Given the description of an element on the screen output the (x, y) to click on. 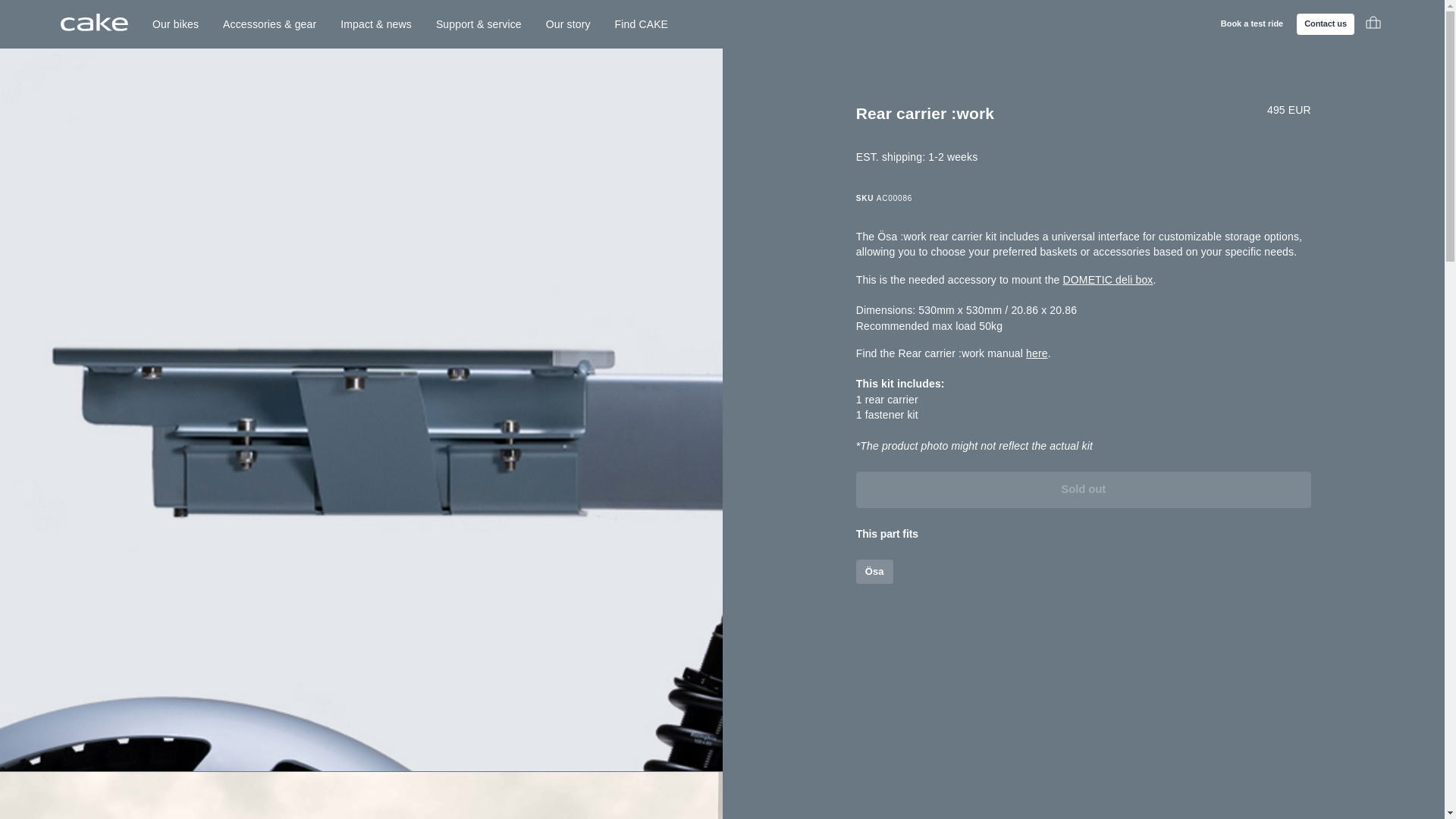
Sold out (1083, 489)
Our story (568, 24)
Find CAKE (641, 24)
Our bikes (175, 24)
here (1037, 353)
here (1037, 353)
DOMETIC deli box (1107, 279)
DOMETIC deli box (1107, 279)
Book a test ride (1251, 24)
Contact us (1325, 23)
